Given the description of an element on the screen output the (x, y) to click on. 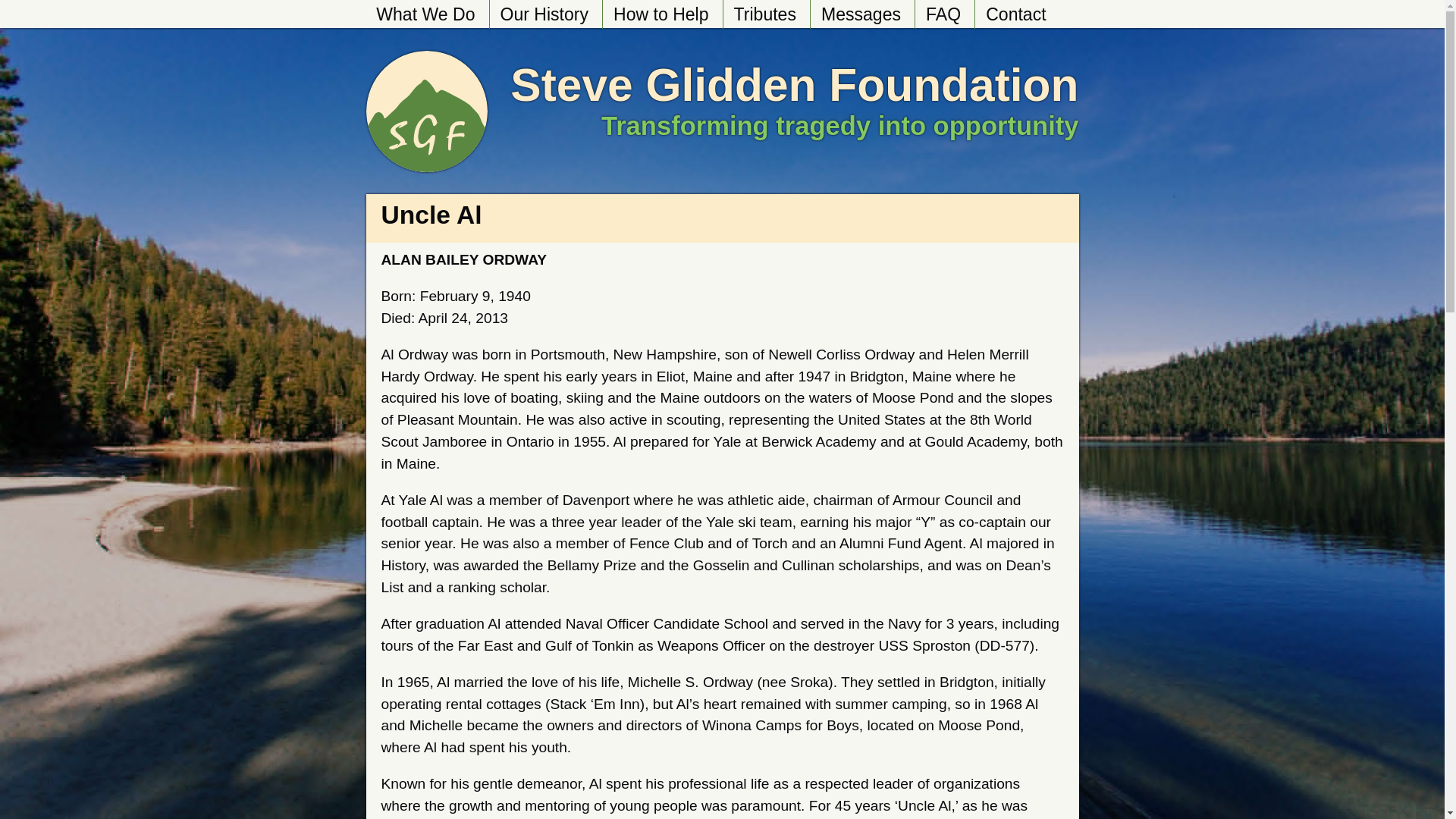
Steve Glidden Foundation (794, 84)
Messages (860, 14)
Our History (543, 14)
Contact (1015, 14)
Tributes (764, 14)
What We Do (424, 14)
How to Help (660, 14)
Transforming tragedy into opportunity (839, 125)
FAQ (942, 14)
